Given the description of an element on the screen output the (x, y) to click on. 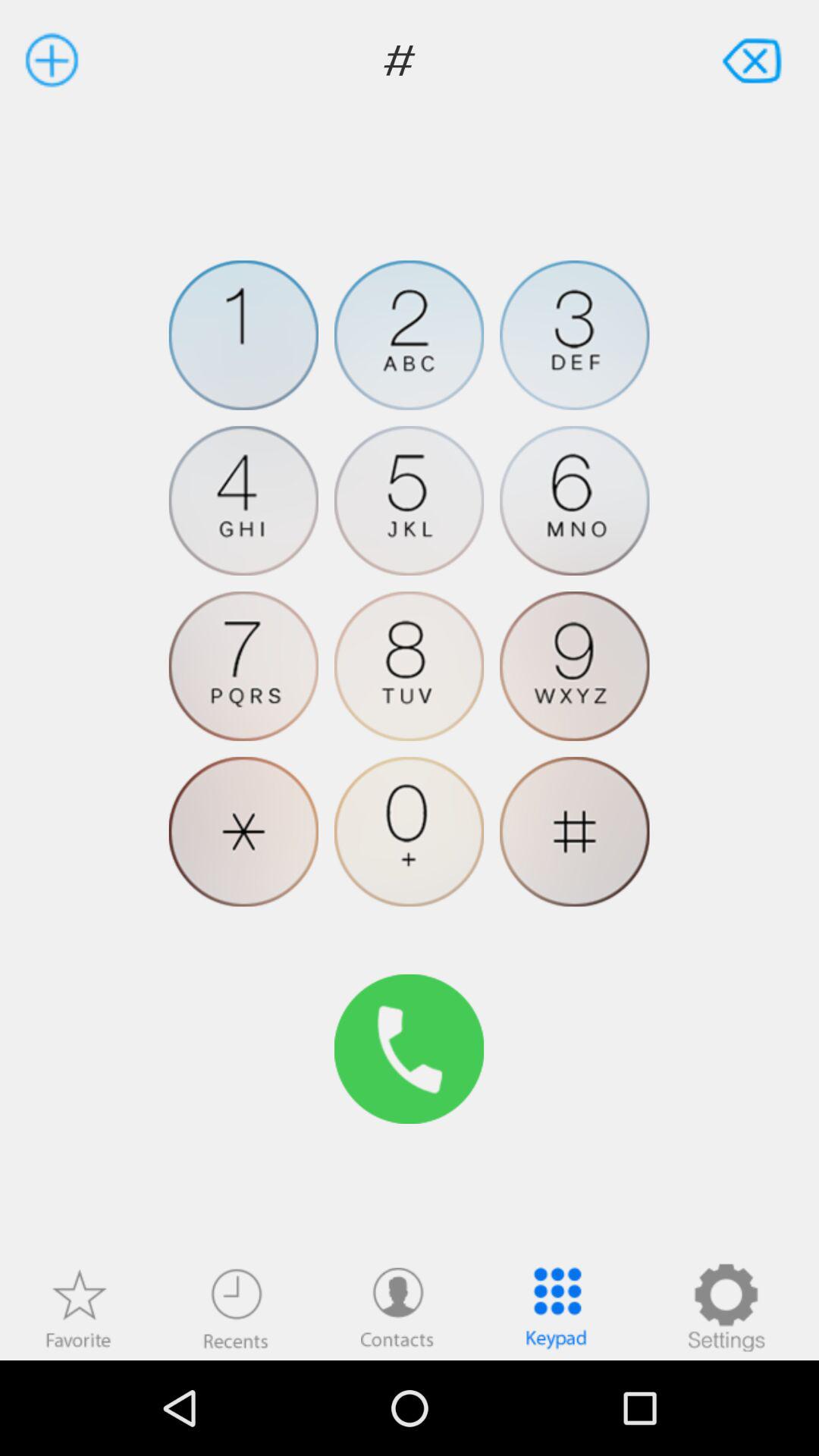
press 8 (409, 666)
